Given the description of an element on the screen output the (x, y) to click on. 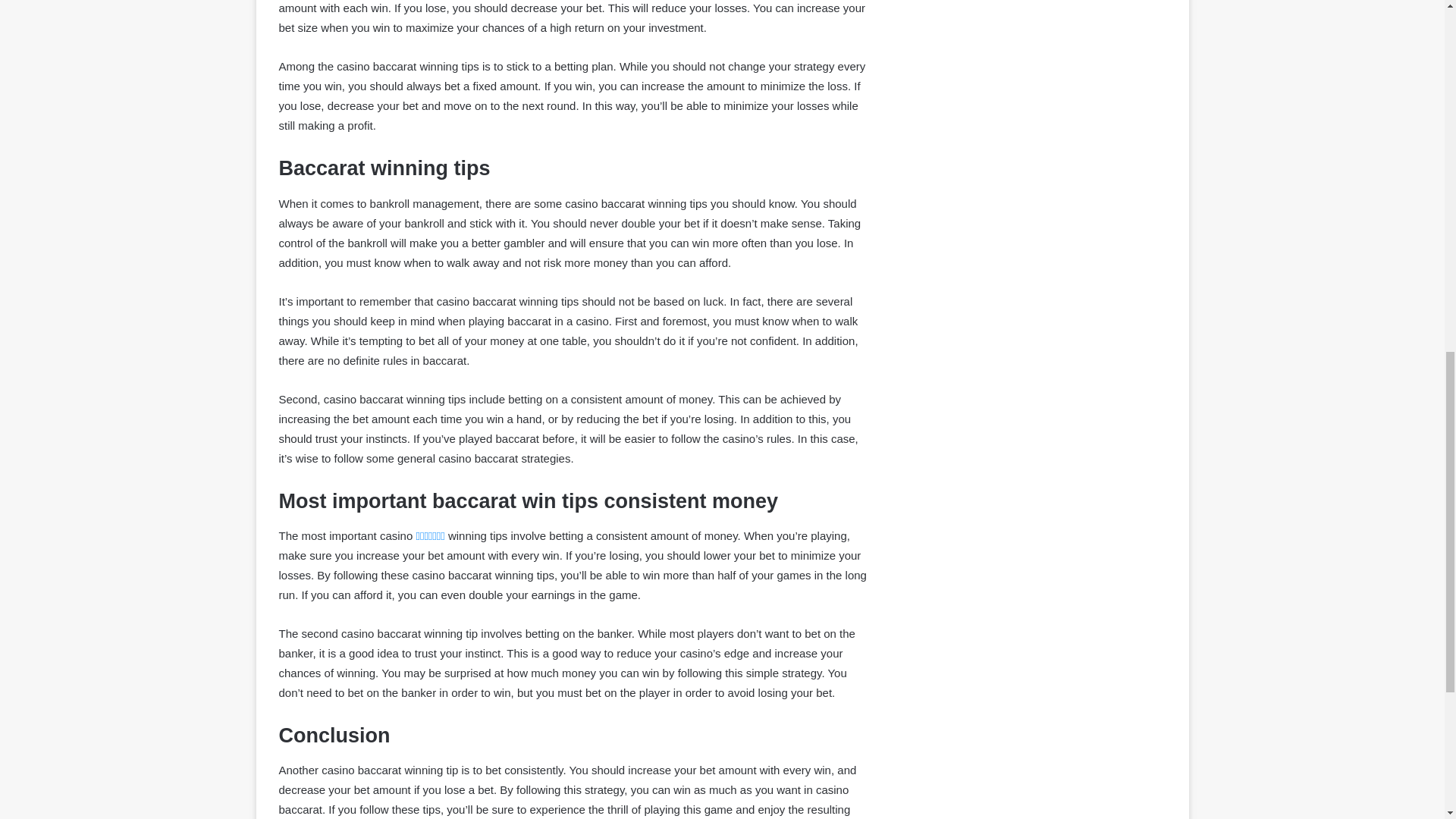
Back to top button (1419, 62)
